Given the description of an element on the screen output the (x, y) to click on. 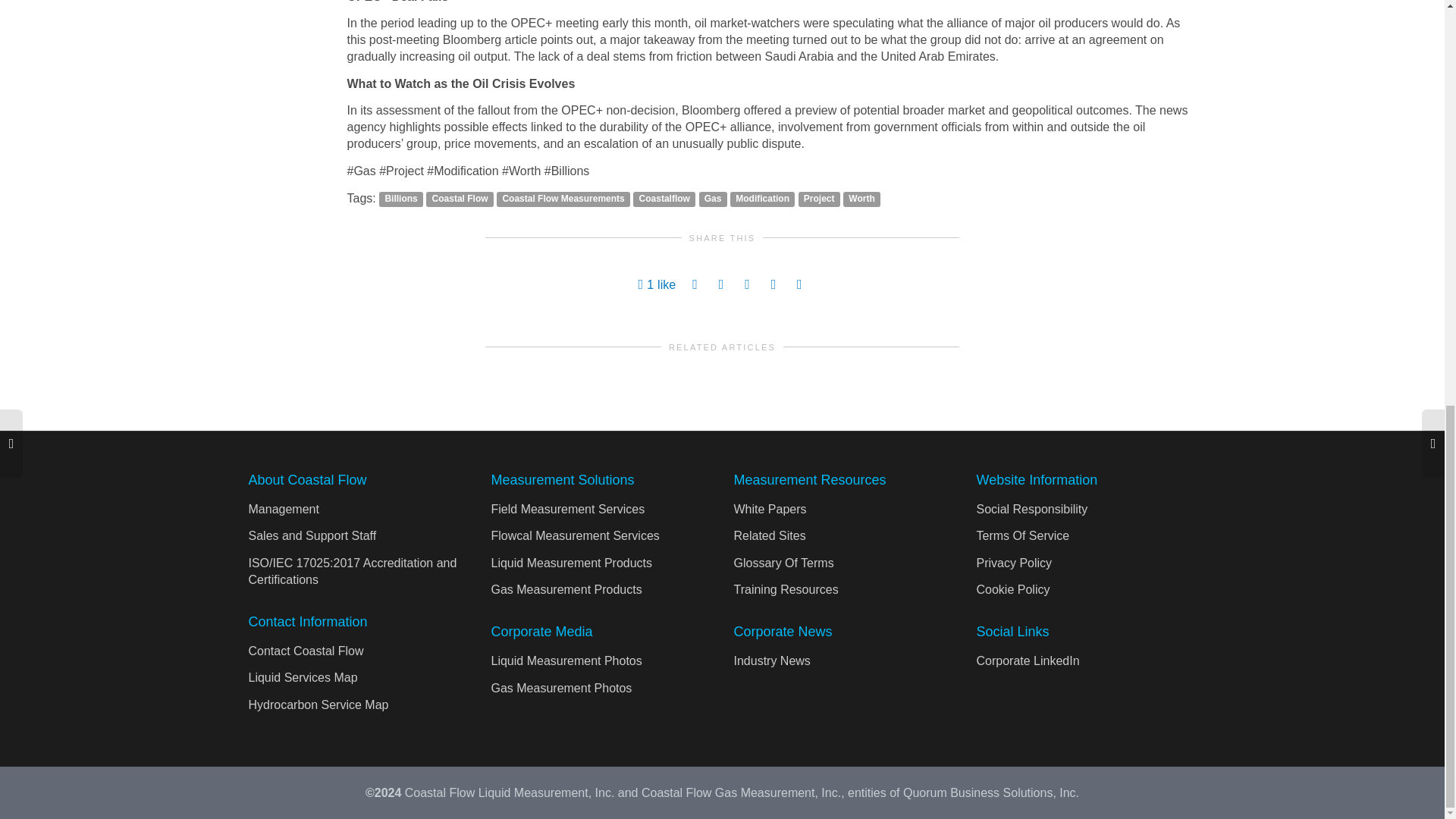
Modification (762, 199)
1 like (658, 284)
Coastal Flow Measurements (563, 199)
Project (818, 199)
Worth (861, 199)
Billions (400, 199)
Coastal Flow (459, 199)
Coastalflow (664, 199)
Gas (713, 199)
